Given the description of an element on the screen output the (x, y) to click on. 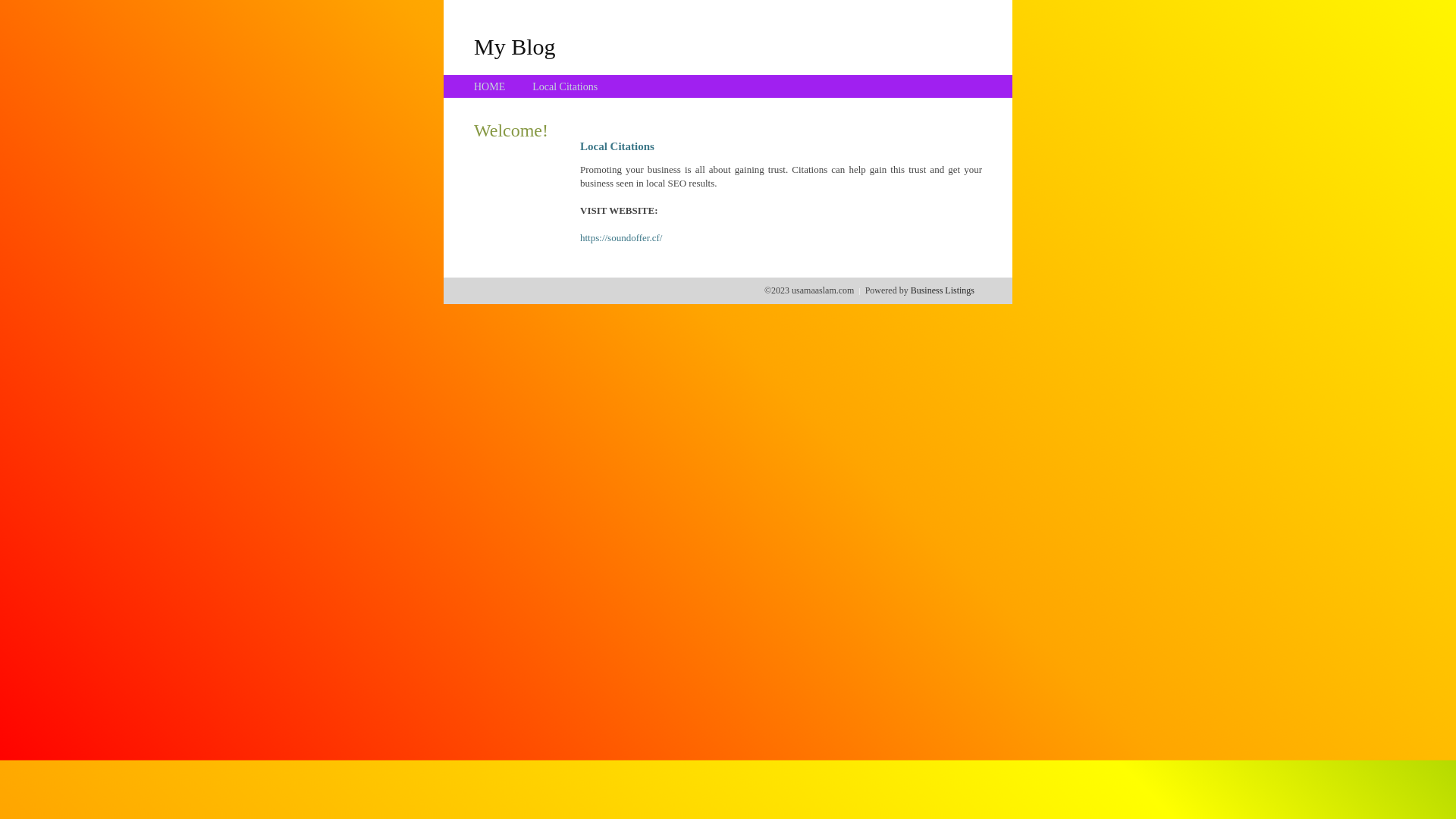
Business Listings Element type: text (942, 290)
HOME Element type: text (489, 86)
My Blog Element type: text (514, 46)
Local Citations Element type: text (564, 86)
https://soundoffer.cf/ Element type: text (621, 237)
